Given the description of an element on the screen output the (x, y) to click on. 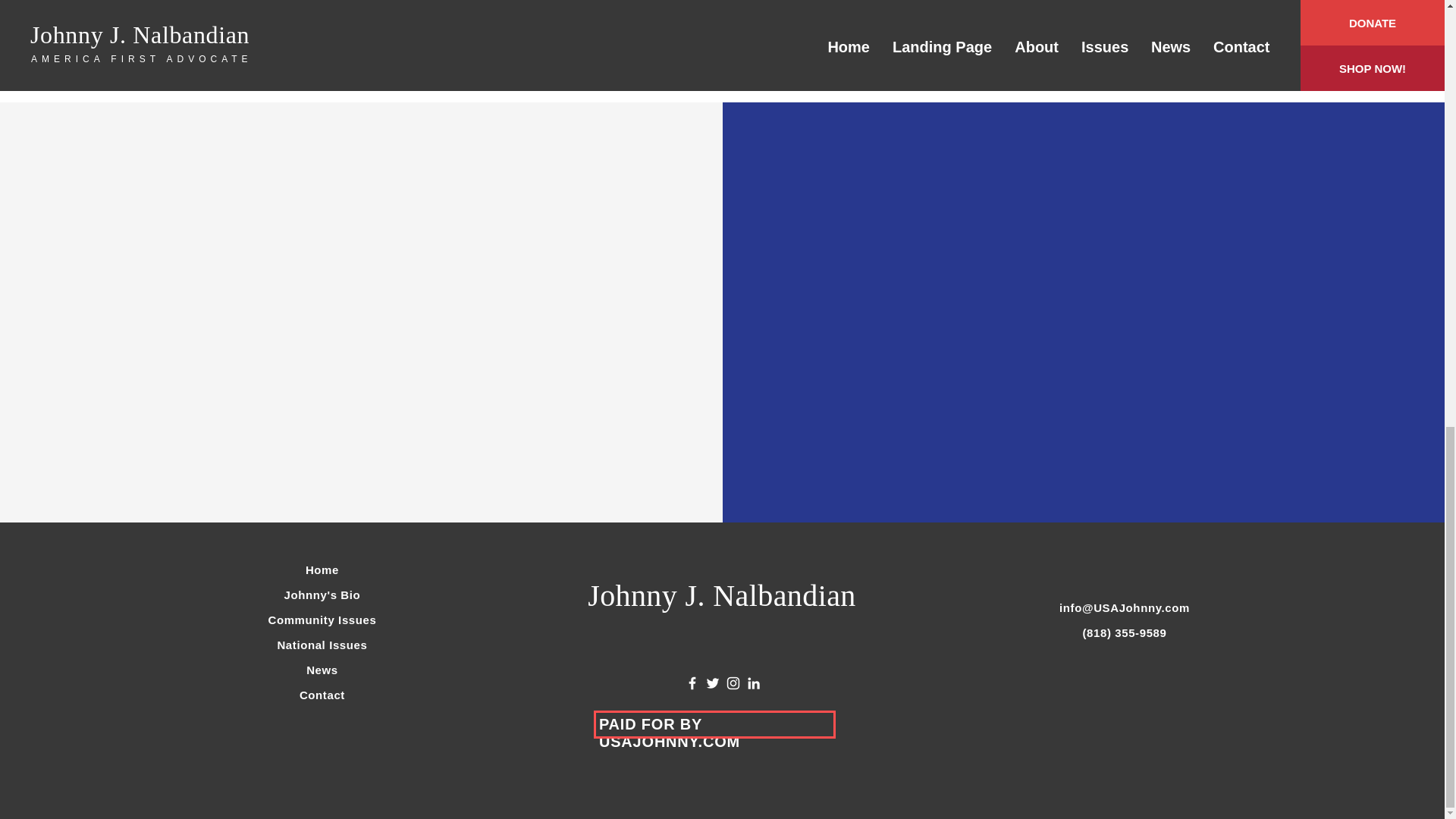
Johnny's Bio (322, 594)
News (321, 669)
National Issues (321, 644)
Home (322, 569)
Community Issues (321, 619)
Contact (322, 694)
